Given the description of an element on the screen output the (x, y) to click on. 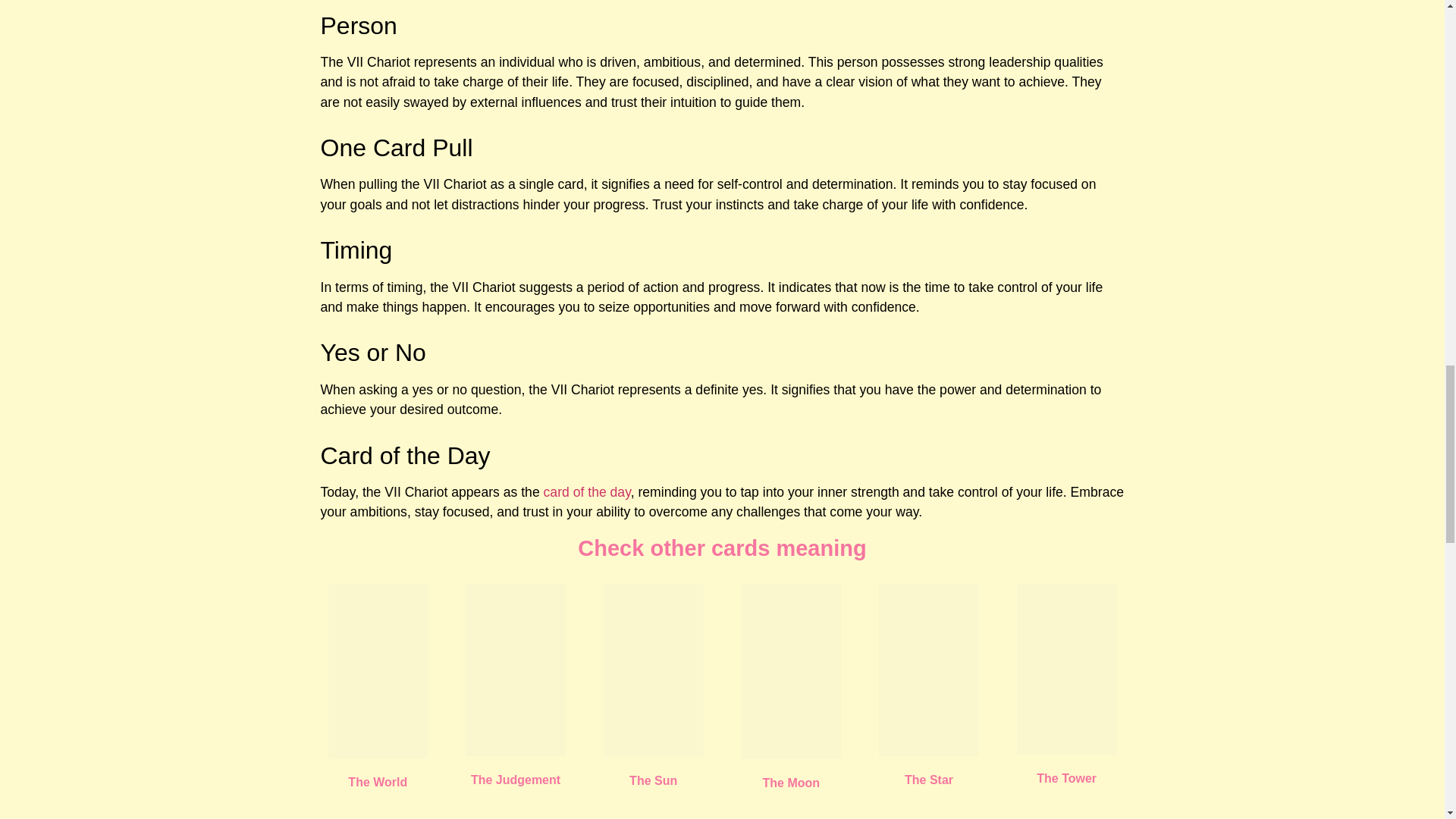
The Moon (791, 782)
card of the day (586, 491)
The World (377, 781)
The Sun (652, 780)
The Judgement (515, 779)
